Given the description of an element on the screen output the (x, y) to click on. 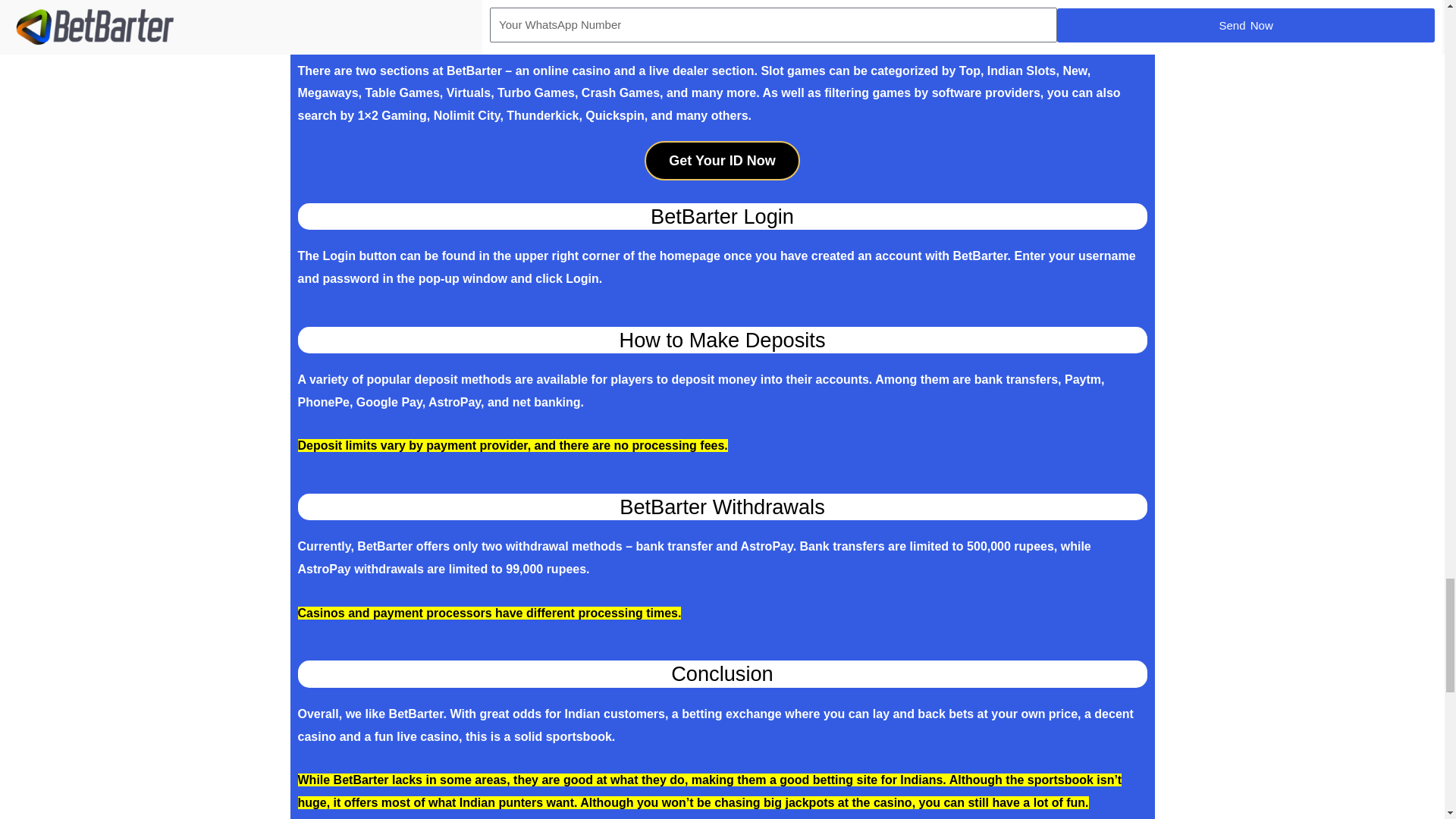
Get Your ID Now (722, 160)
